Given the description of an element on the screen output the (x, y) to click on. 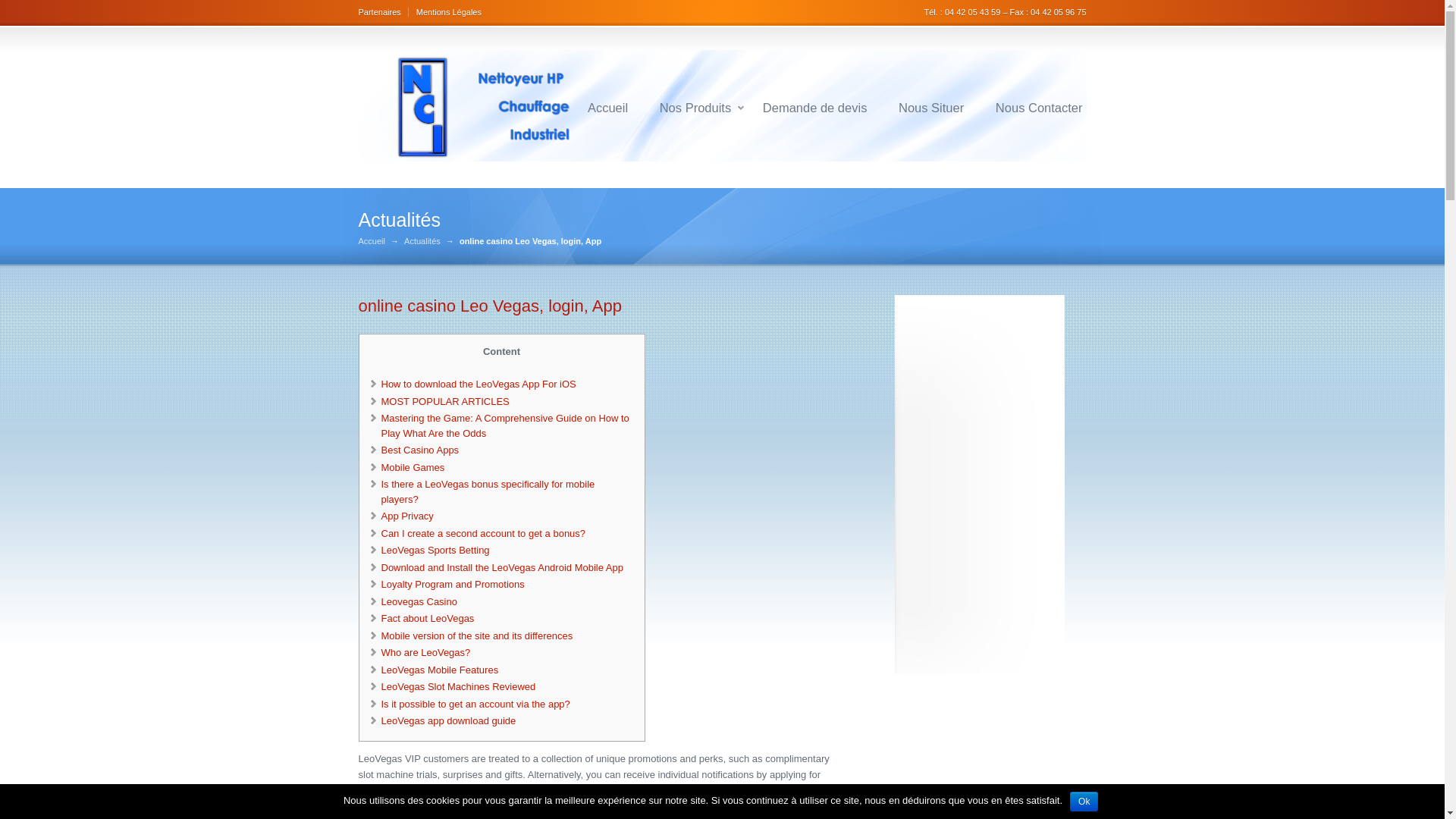
Nous Contacter (1038, 107)
Accueil (607, 107)
Partenaires (382, 11)
Nos Produits (695, 107)
Nous Situer (931, 107)
online casino Leo Vegas, login, App (489, 305)
Accueil (371, 241)
Demande de devis (814, 107)
